Given the description of an element on the screen output the (x, y) to click on. 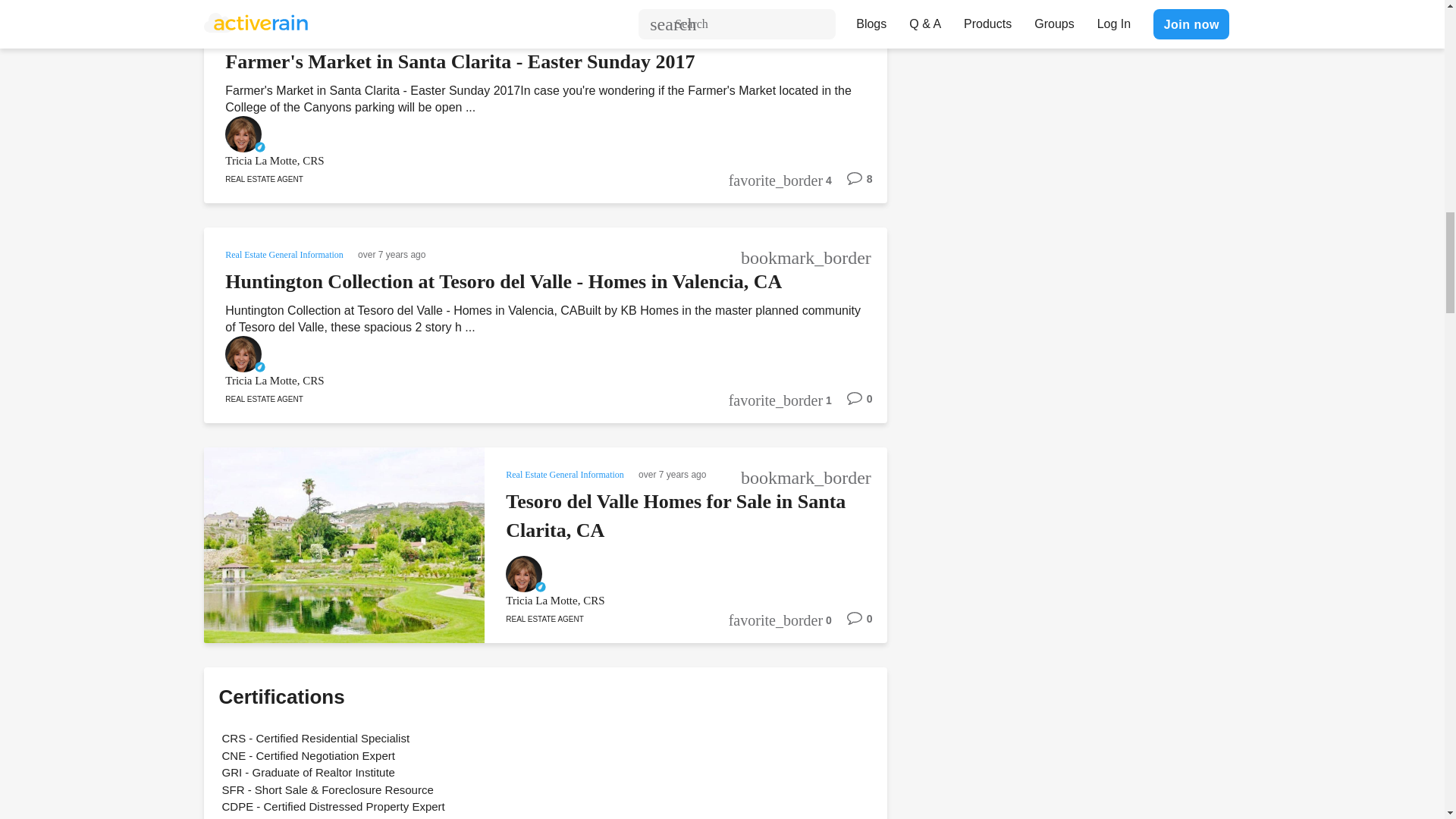
8 (851, 184)
Tricia La Motte, CRS (525, 160)
Farmer's Market in Santa Clarita - Easter Sunday 2017 (459, 61)
Local News and Events (269, 33)
Real Estate General Information (285, 253)
